Given the description of an element on the screen output the (x, y) to click on. 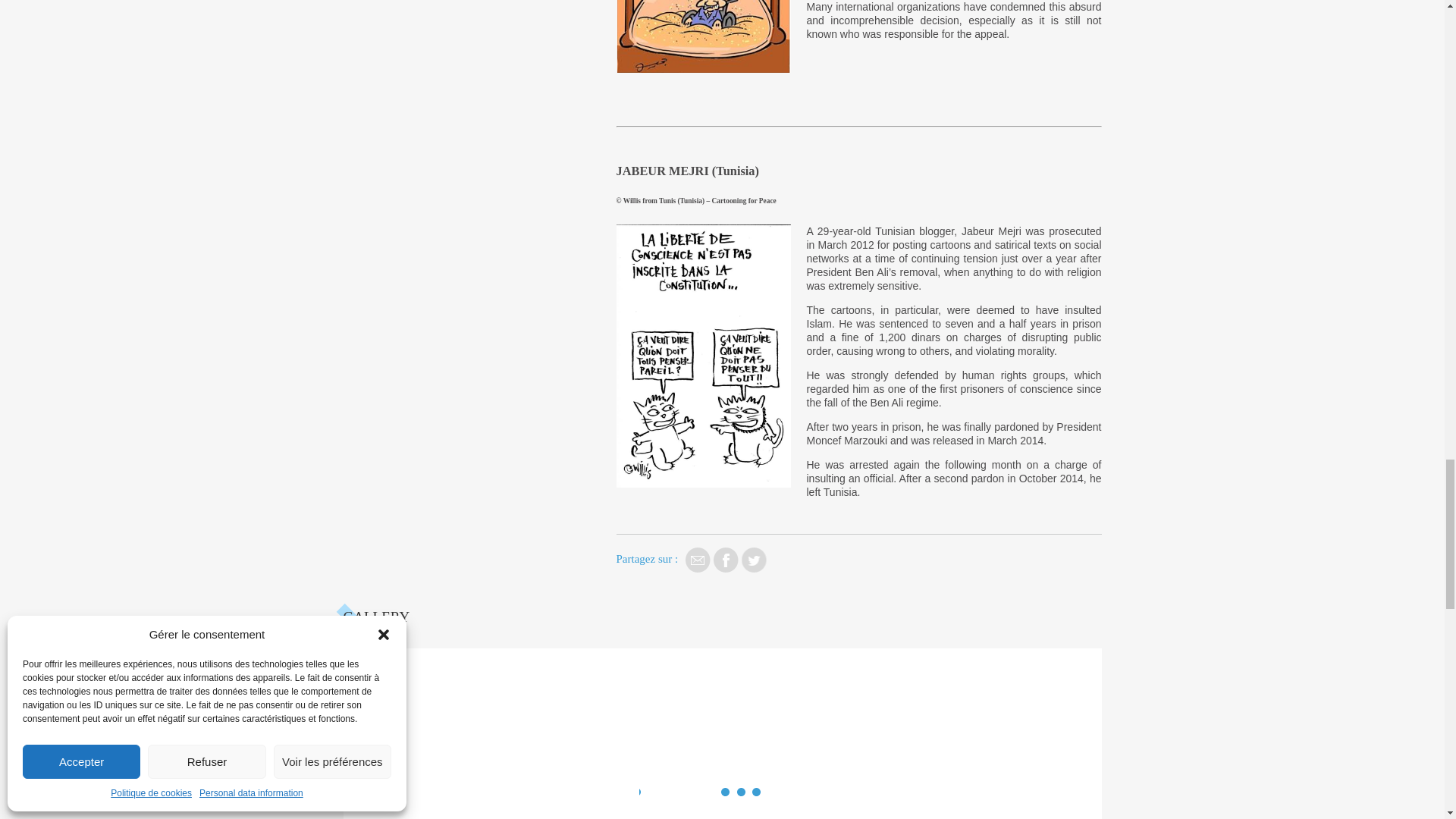
Share on Twitter (754, 559)
